Given the description of an element on the screen output the (x, y) to click on. 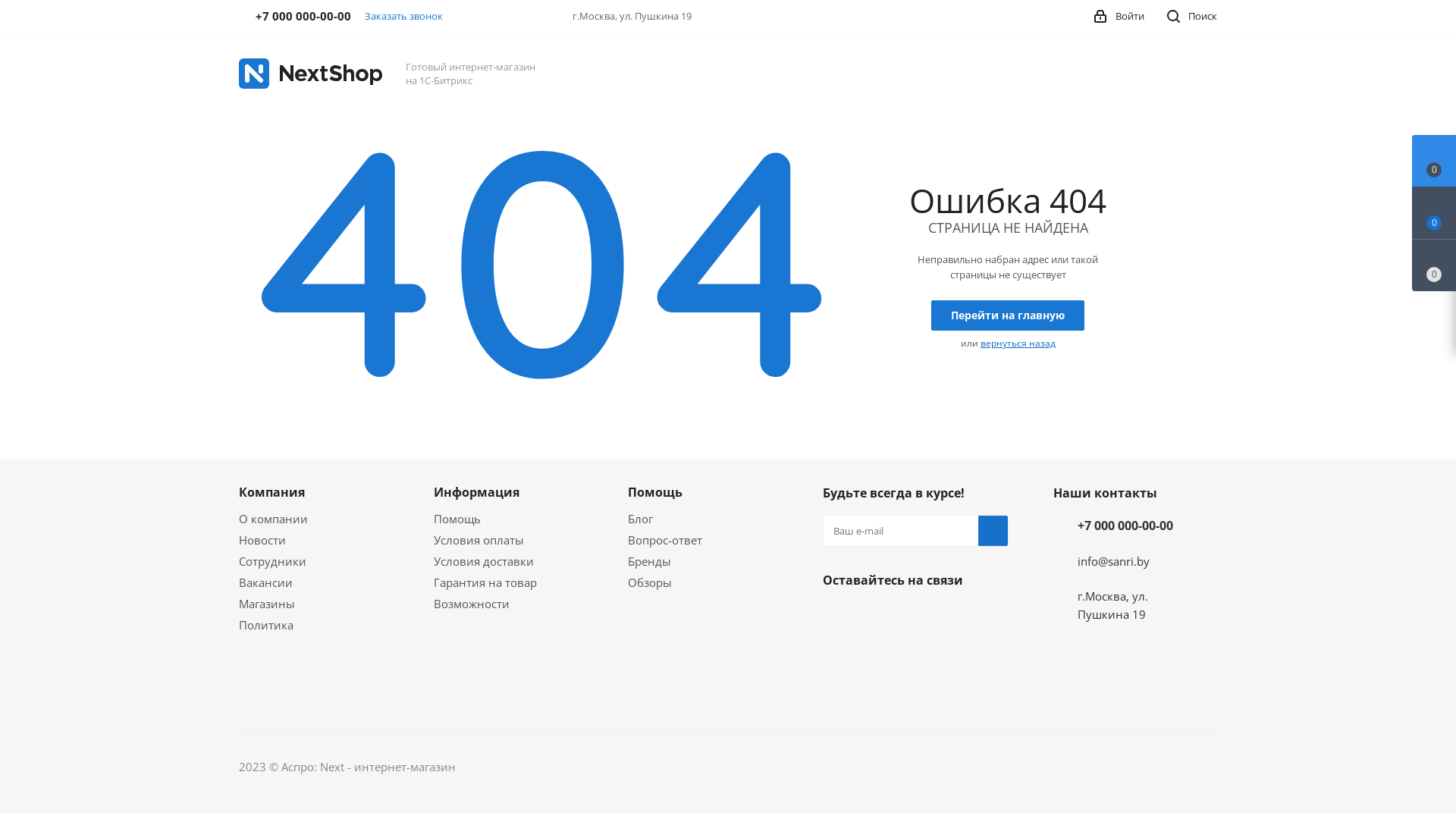
Sberbank Element type: hover (1166, 767)
Yandex Element type: hover (1071, 767)
Google Plus Element type: text (951, 653)
Telegram Element type: text (837, 653)
WebMoney Element type: hover (1104, 767)
Visa Element type: hover (1039, 767)
MasterCard Element type: hover (1002, 767)
Google Plus Element type: text (837, 691)
Facebook Element type: text (875, 615)
+7 000 000-00-00 Element type: text (1125, 526)
Cash Element type: hover (965, 767)
YouTube Element type: text (875, 653)
info@sanri.by Element type: text (1113, 560)
Instagram Element type: text (951, 615)
Alfa Element type: hover (1204, 767)
Qiwi Element type: hover (1138, 767)
Twitter Element type: text (913, 615)
